Given the description of an element on the screen output the (x, y) to click on. 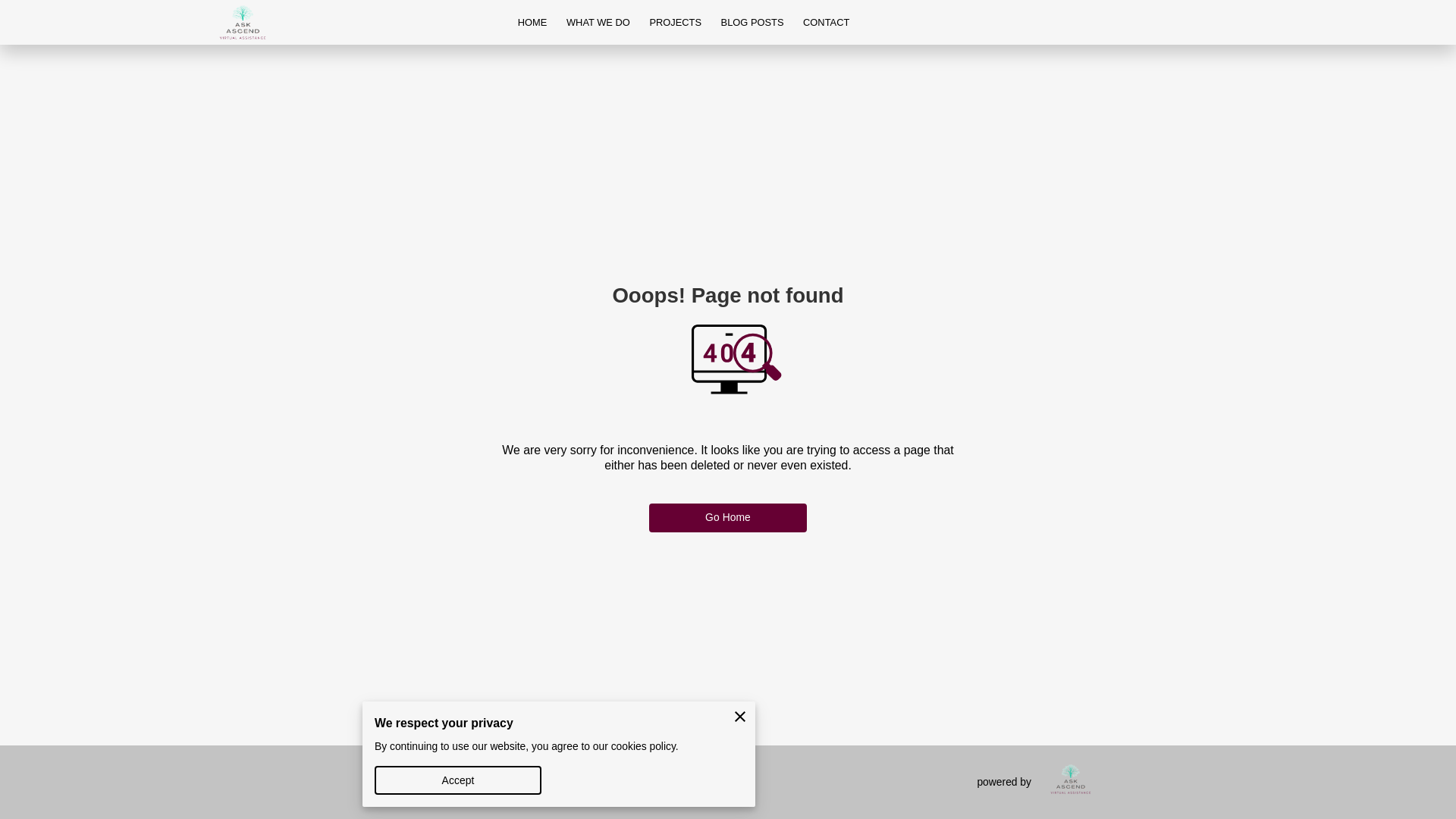
BLOG POSTS (752, 22)
PROJECTS (675, 22)
Merchant Policies (563, 782)
Go Home (727, 517)
HOME (532, 22)
CONTACT (826, 22)
Legal Notice (659, 782)
WHAT WE DO (597, 22)
Accept (457, 779)
